Given the description of an element on the screen output the (x, y) to click on. 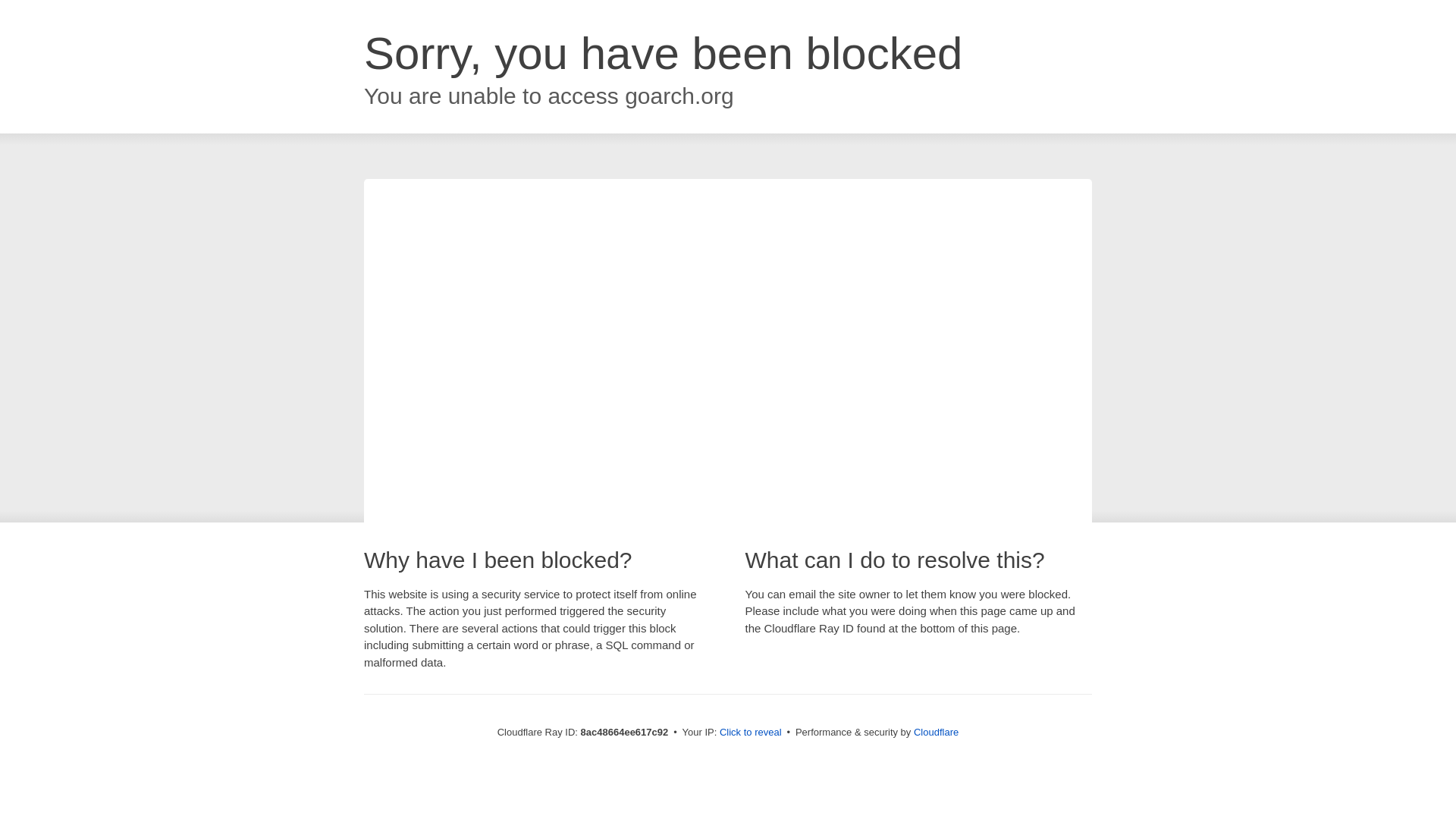
Click to reveal (750, 732)
Cloudflare (936, 731)
